Given the description of an element on the screen output the (x, y) to click on. 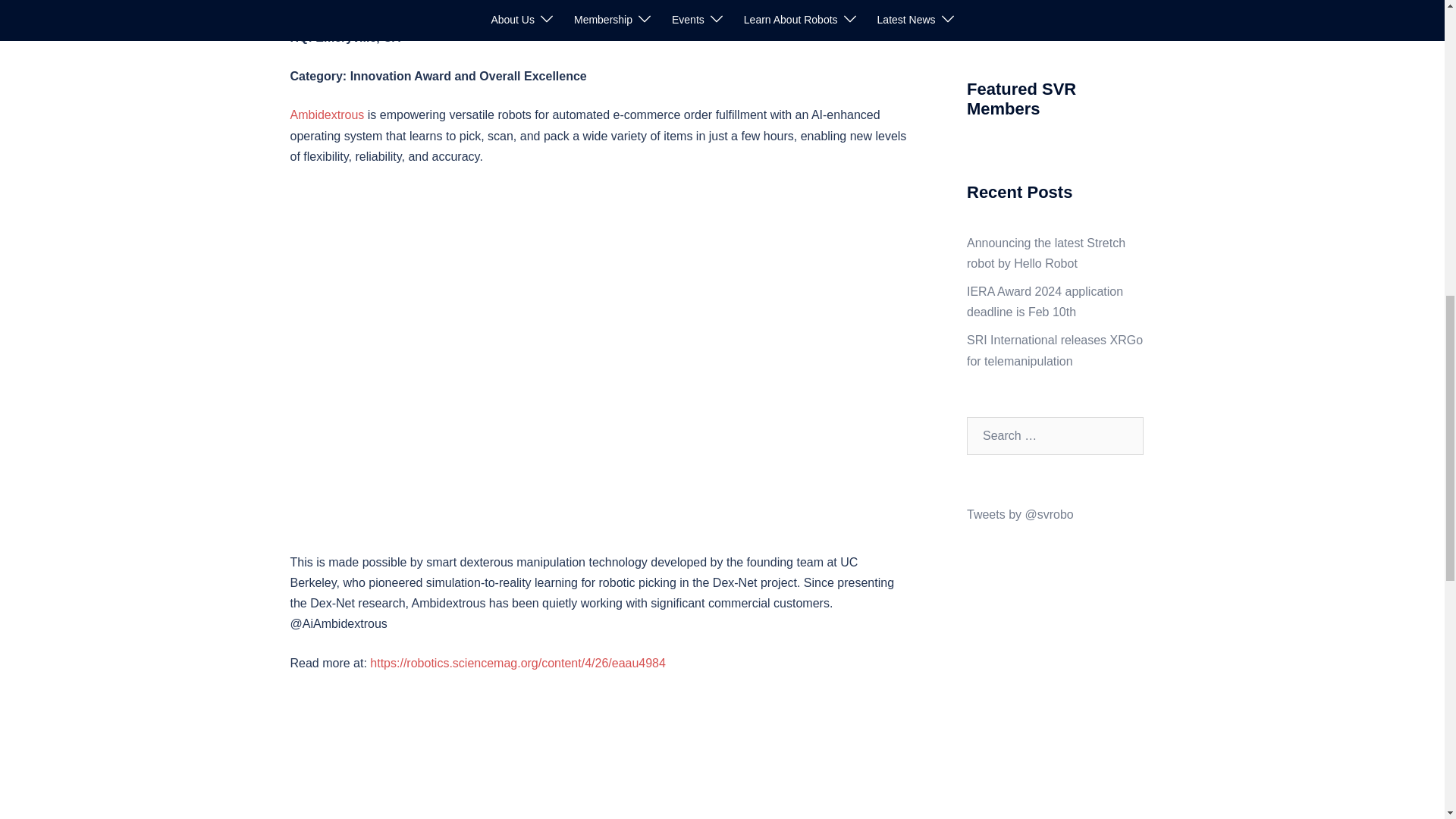
Learning Ambidextrous Robot Grasping Policies - Dex-Net 4.0 (599, 755)
